Given the description of an element on the screen output the (x, y) to click on. 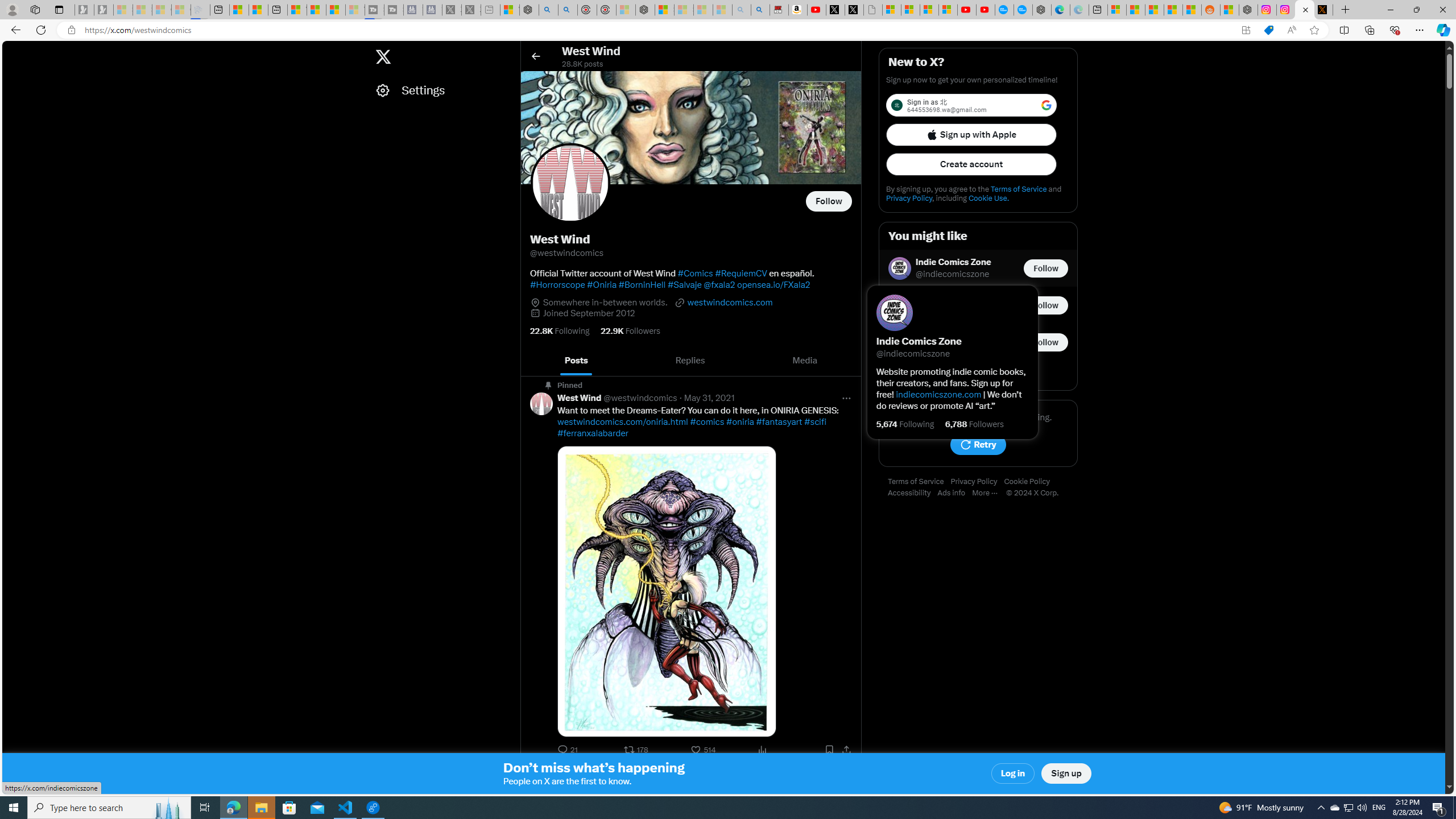
westwindcomics.com (723, 301)
Next (848, 360)
YouTube Kids - An App Created for Kids to Explore Content (985, 9)
Day 1: Arriving in Yemen (surreal to be here) - YouTube (816, 9)
#ferranxalabarder (592, 433)
Follow @deanetts (1045, 304)
Ads info (954, 492)
Share post (846, 749)
